Given the description of an element on the screen output the (x, y) to click on. 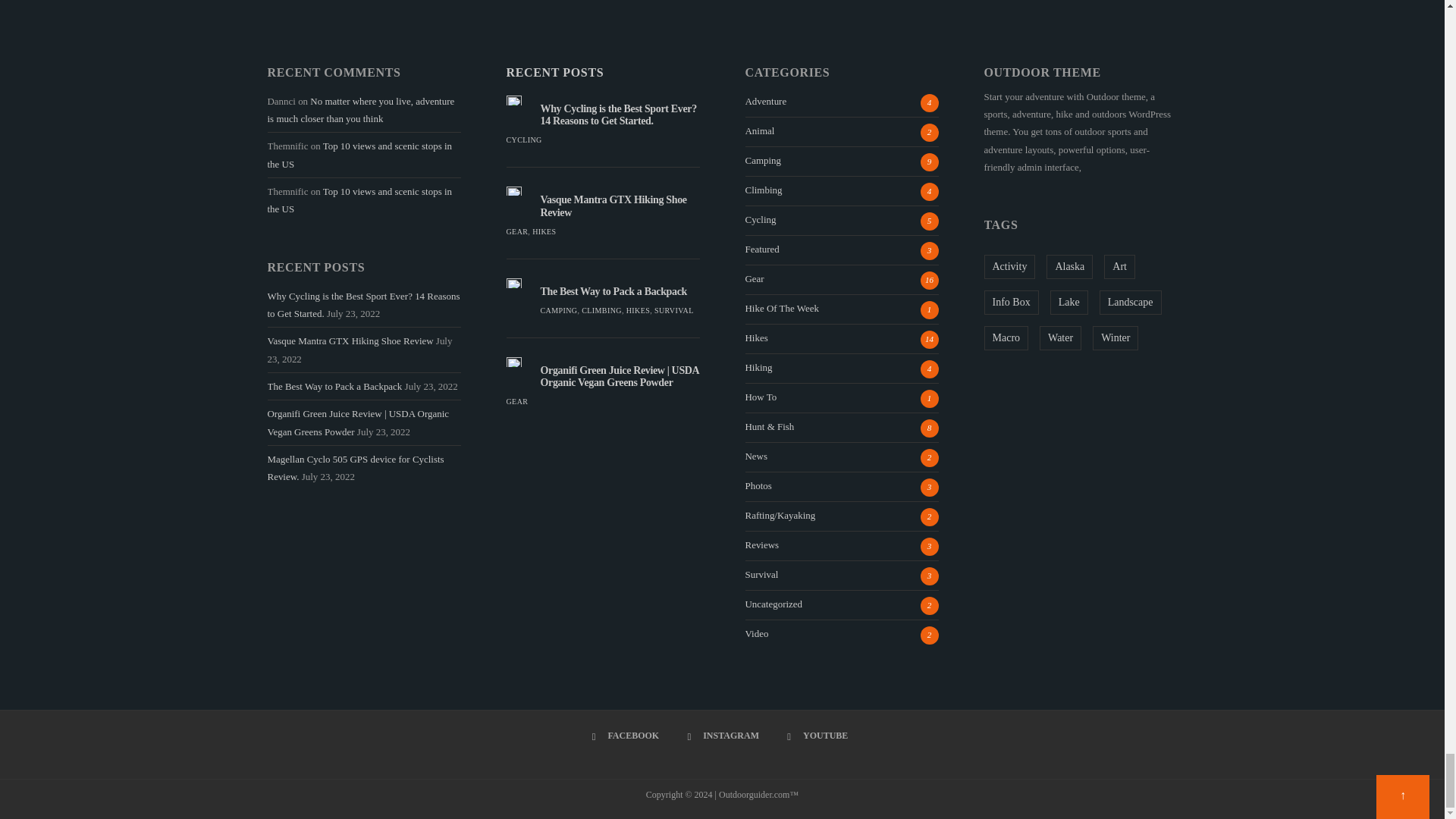
Vasque Mantra GTX Hiking Shoe Review (612, 206)
Vasque Mantra GTX Hiking Shoe Review (513, 190)
